Given the description of an element on the screen output the (x, y) to click on. 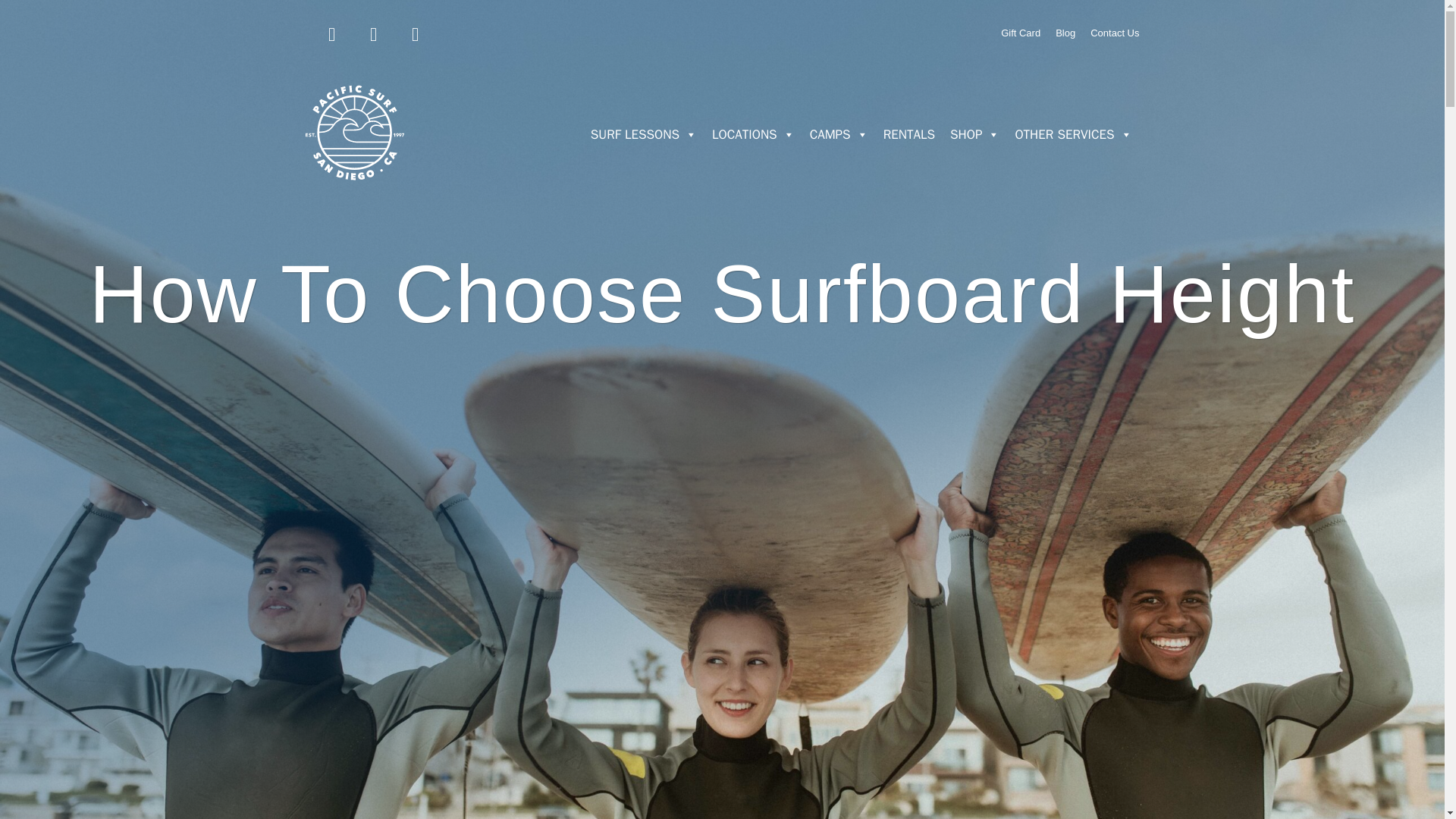
Pacific Surf School (353, 132)
SURF LESSONS (643, 134)
CAMPS (839, 134)
SHOP (974, 134)
Gift Card (1021, 32)
RENTALS (909, 134)
OTHER SERVICES (1072, 134)
Pacific Surf School (353, 131)
Blog (1065, 32)
LOCATIONS (753, 134)
Contact Us (1114, 32)
